Given the description of an element on the screen output the (x, y) to click on. 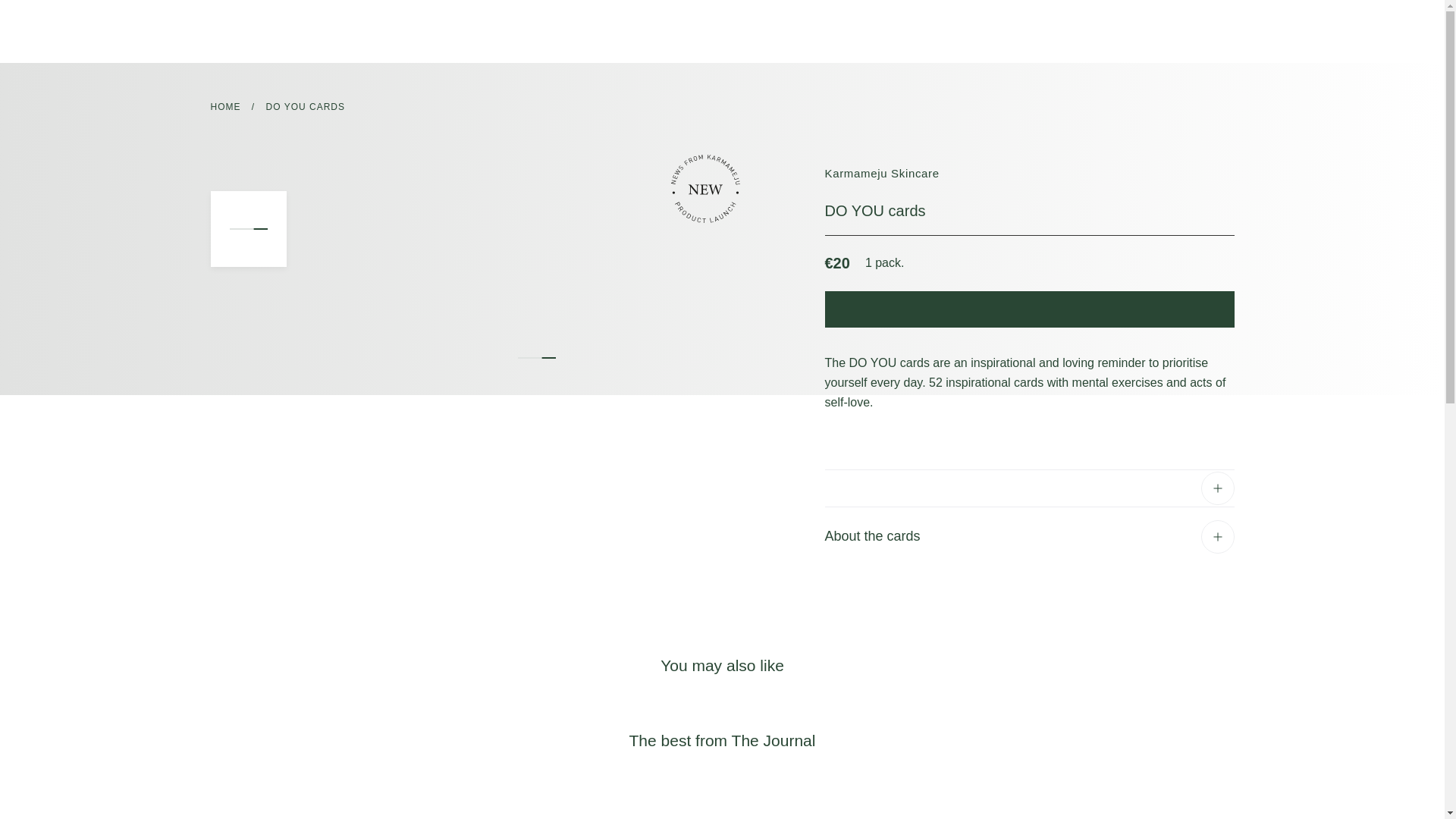
Home (226, 106)
